Given the description of an element on the screen output the (x, y) to click on. 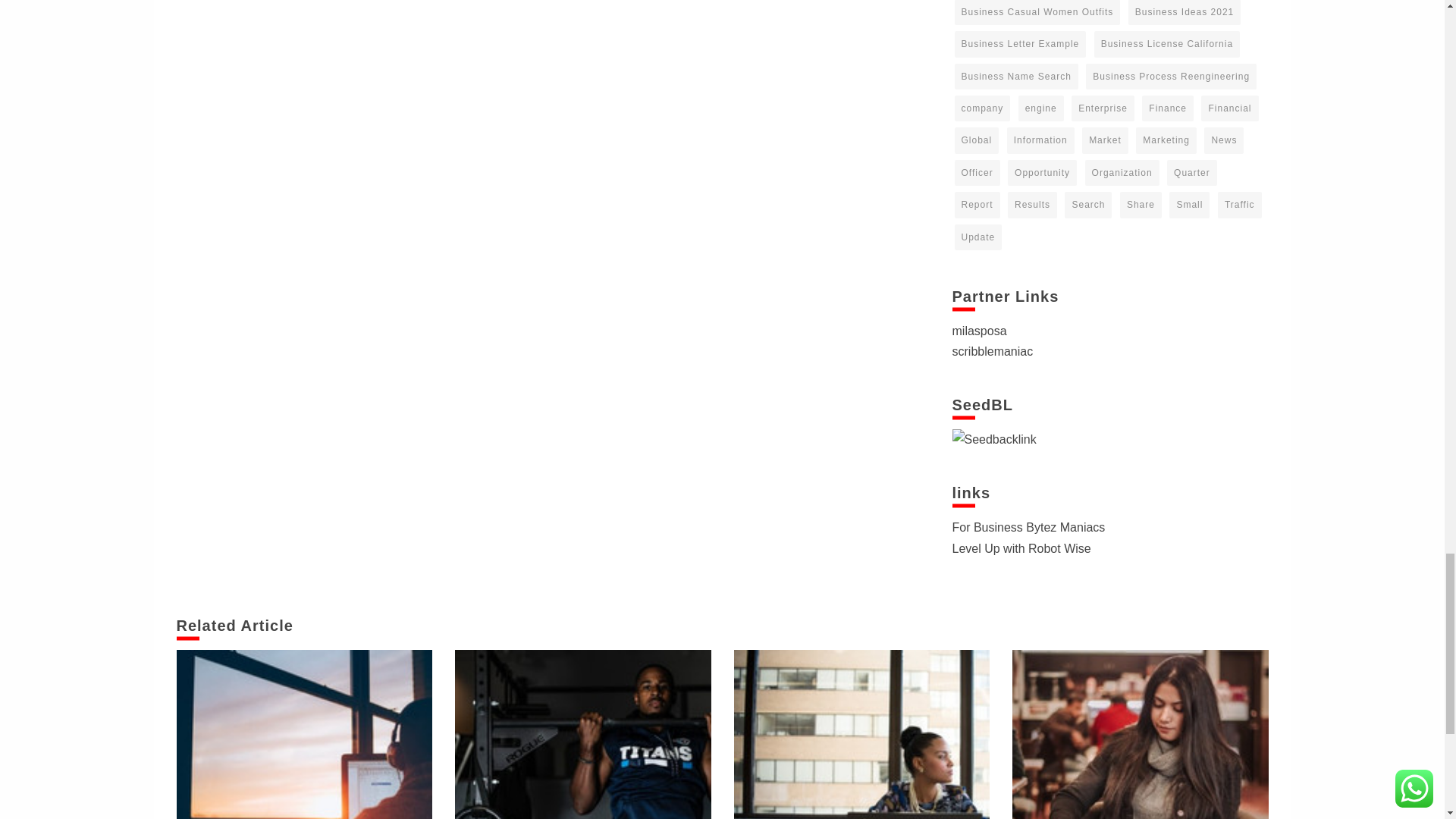
Seedbacklink (994, 439)
Business Financing Cash Flow On Auto Pilot? (1139, 734)
Changing Business Strategies 2020 (304, 734)
Business Analyst Finance Domain Sample Resume (861, 734)
